Given the description of an element on the screen output the (x, y) to click on. 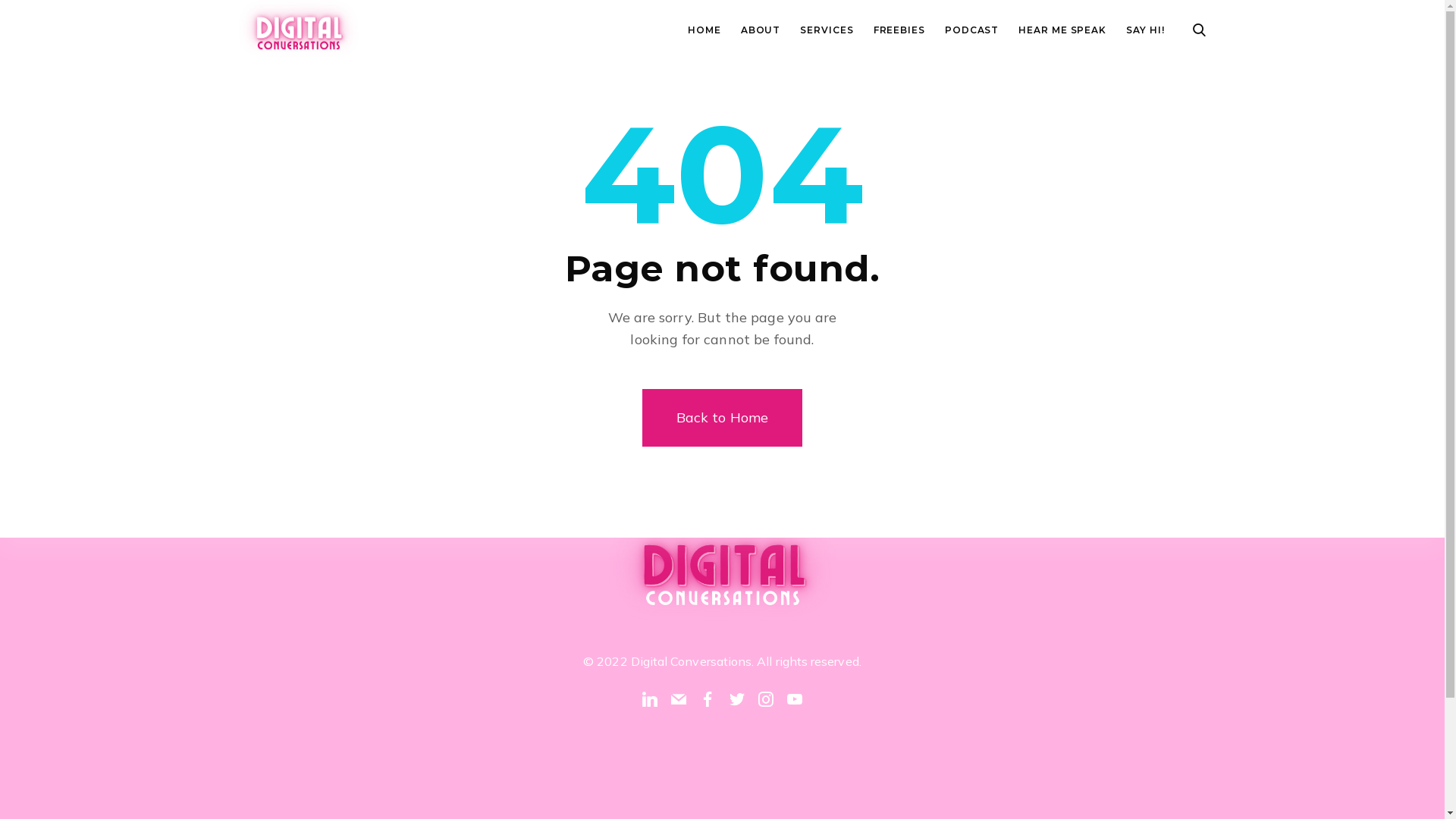
PODCAST Element type: text (971, 30)
ABOUT Element type: text (760, 30)
Back to Home Element type: text (722, 417)
SAY HI! Element type: text (1144, 30)
HOME Element type: text (704, 30)
SERVICES Element type: text (826, 30)
HEAR ME SPEAK Element type: text (1062, 30)
FREEBIES Element type: text (899, 30)
